Given the description of an element on the screen output the (x, y) to click on. 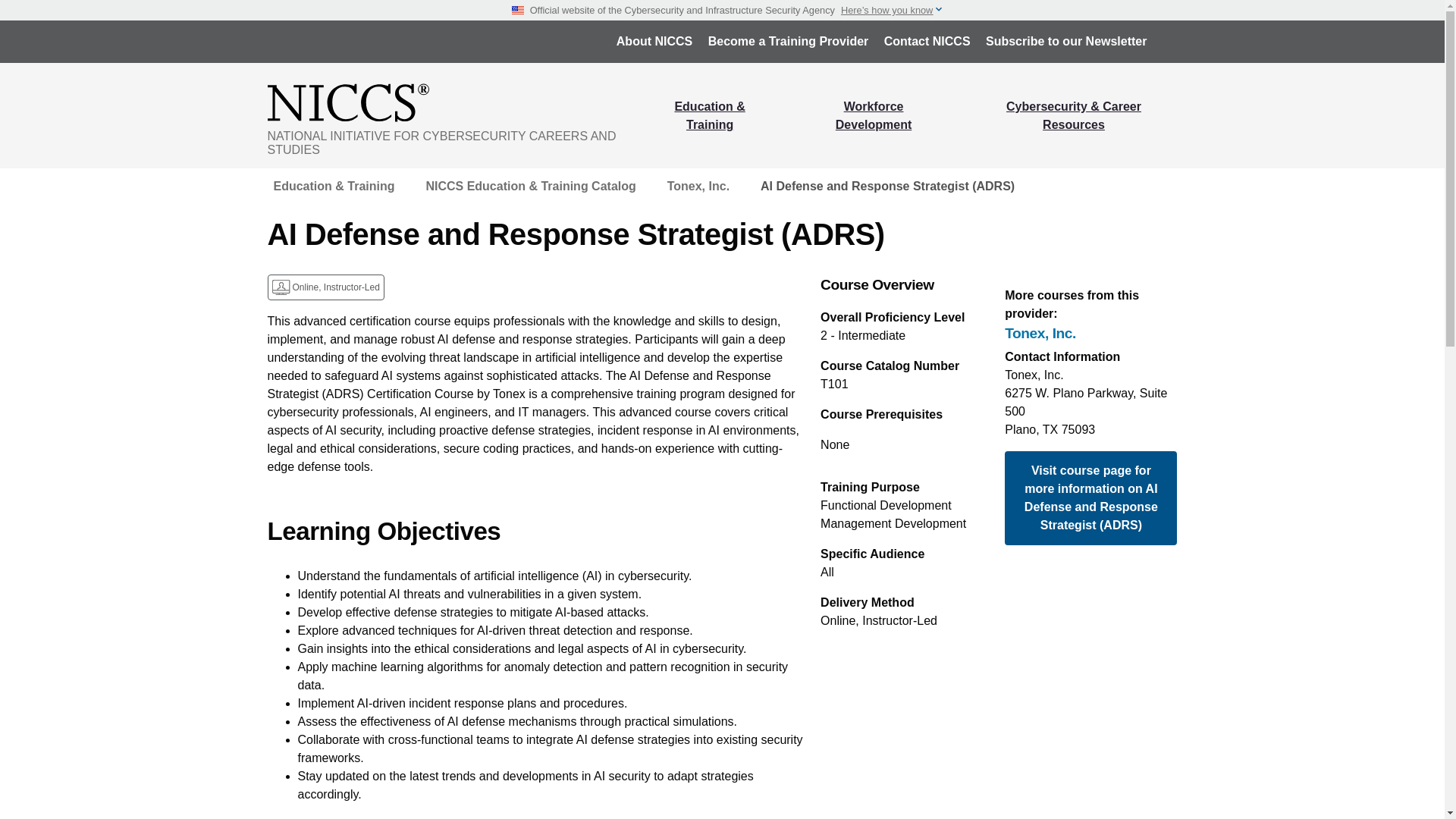
National Initiative for Cybersecurity Careers and Studies (454, 102)
Workforce Development (873, 115)
Contact NICCS (926, 41)
Subscribe to our Newsletter (1066, 41)
Become a Training Provider (788, 41)
About NICCS (654, 41)
Tonex, Inc. (1090, 333)
Become a Training Provider (788, 41)
About NICCS (654, 41)
